Given the description of an element on the screen output the (x, y) to click on. 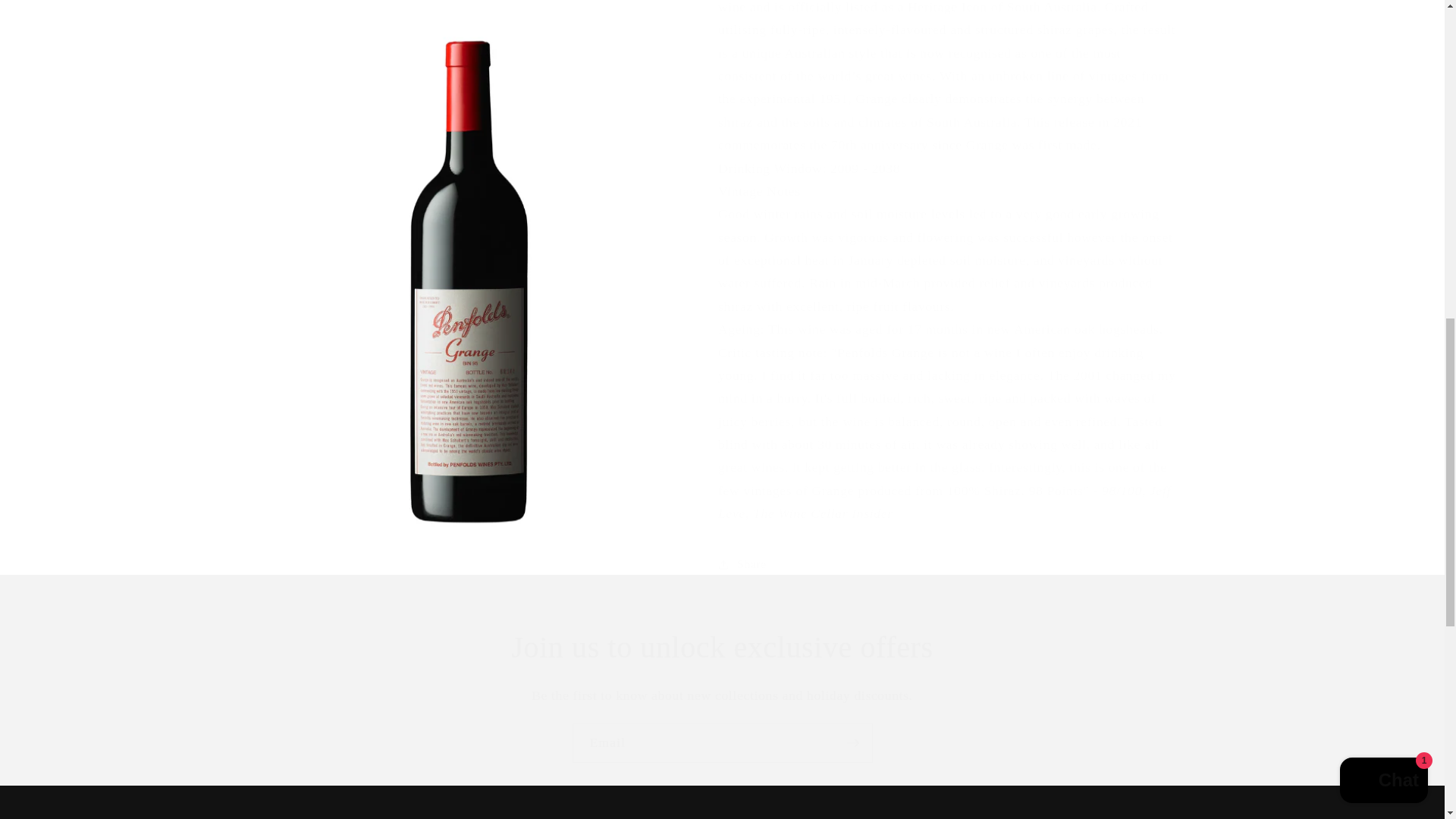
Email (722, 742)
Join us to unlock exclusive offers (722, 647)
